Given the description of an element on the screen output the (x, y) to click on. 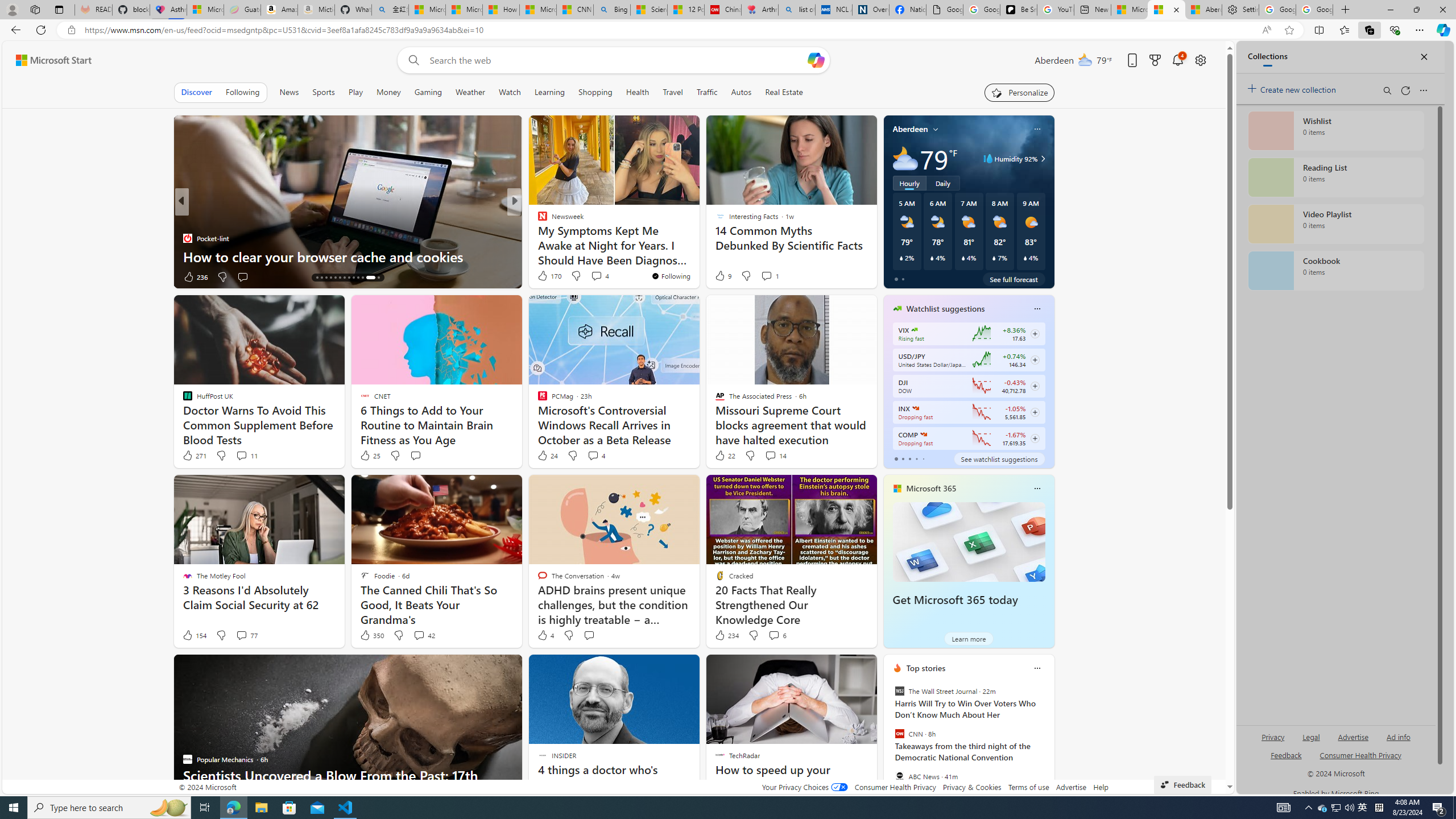
170 Like (548, 275)
Travel (672, 92)
Class: icon-img (1037, 668)
View comments 42 Comment (423, 634)
Science - MSN (649, 9)
Real Estate (783, 92)
View comments 34 Comment (241, 276)
See full forecast (1013, 278)
22 Like (724, 455)
AutomationID: tab-19 (339, 277)
ABC News (898, 775)
The Wall Street Journal (898, 691)
